Given the description of an element on the screen output the (x, y) to click on. 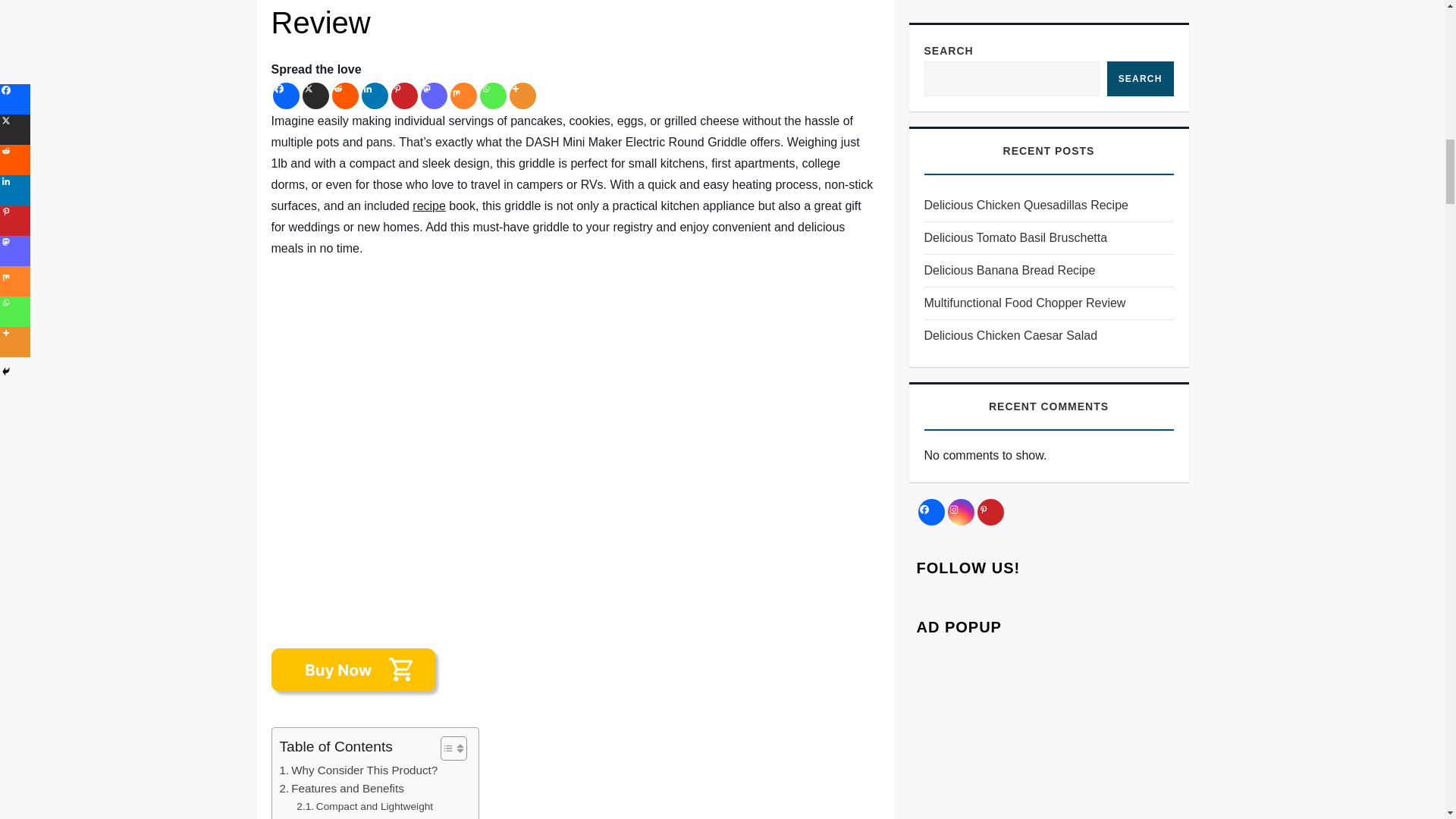
Whatsapp (492, 95)
More (522, 95)
Mastodon (433, 95)
Quick and Easy Operation (366, 816)
X (315, 95)
Pinterest (404, 95)
Features and Benefits (341, 788)
Features and Benefits (341, 788)
Compact and Lightweight (364, 806)
Reddit (344, 95)
recipe (428, 205)
Linkedin (374, 95)
Mix (463, 95)
Why Consider This Product? (358, 770)
Facebook (286, 95)
